Given the description of an element on the screen output the (x, y) to click on. 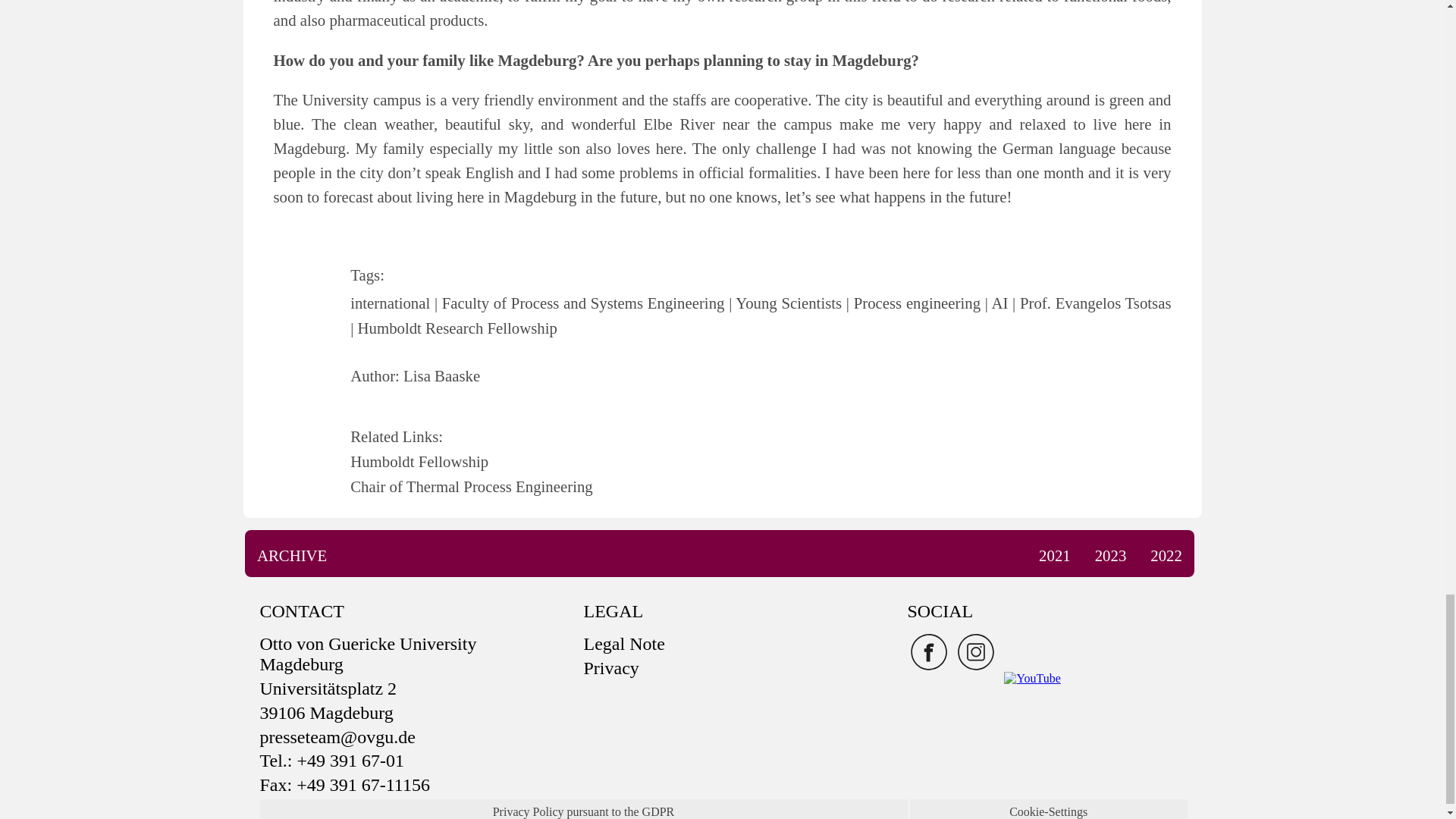
Privacy Policy pursuant to the GDPR (584, 811)
Young Scientists (785, 303)
international (389, 303)
Process engineering (912, 303)
international (389, 303)
Process engineering (912, 303)
Humboldt Research Fellowship (453, 327)
Young Scientists (785, 303)
Humboldt Fellowship (418, 461)
2021 (1054, 555)
